Given the description of an element on the screen output the (x, y) to click on. 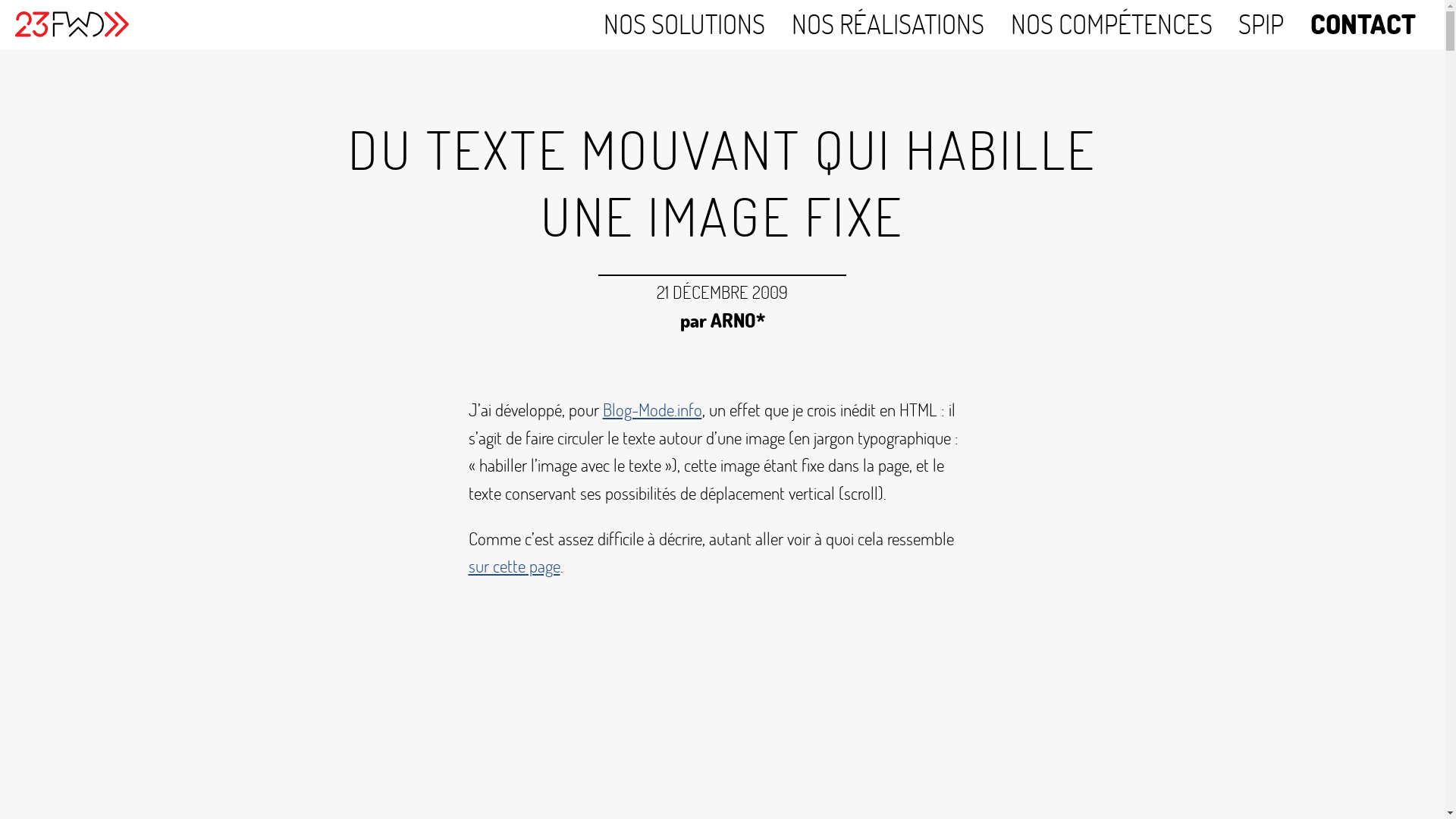
NOS SOLUTIONS Element type: text (684, 23)
sur cette page Element type: text (514, 565)
SPIP Element type: text (1260, 23)
Blog-Mode.info Element type: text (651, 409)
CONTACT Element type: text (1362, 23)
